Given the description of an element on the screen output the (x, y) to click on. 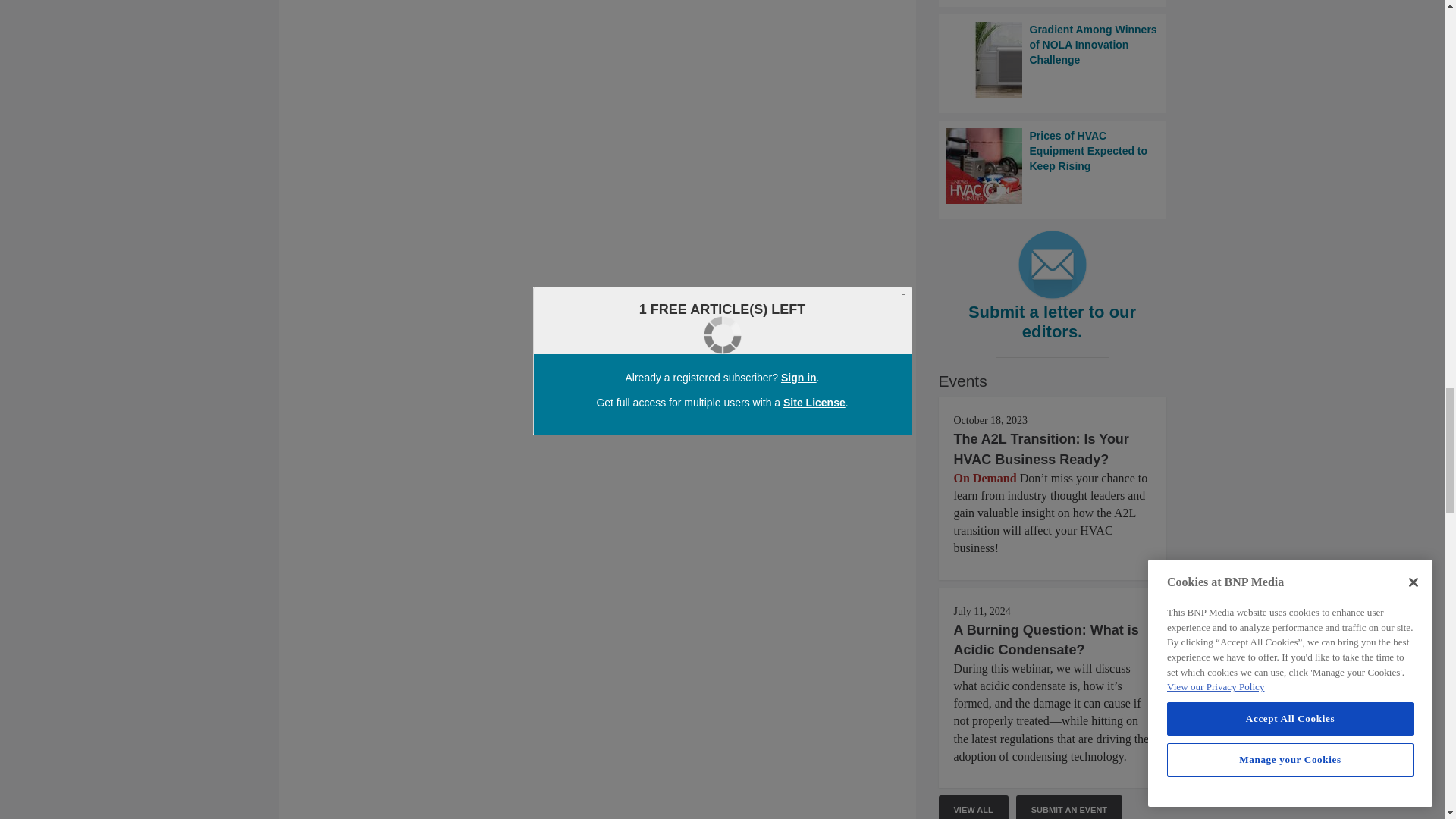
Gradient Among Winners of NOLA Innovation Challenge (1052, 59)
Prices of HVAC Equipment Expected to Keep Rising (1052, 165)
The A2L Transition: Is Your HVAC Business Ready? (1041, 448)
